Given the description of an element on the screen output the (x, y) to click on. 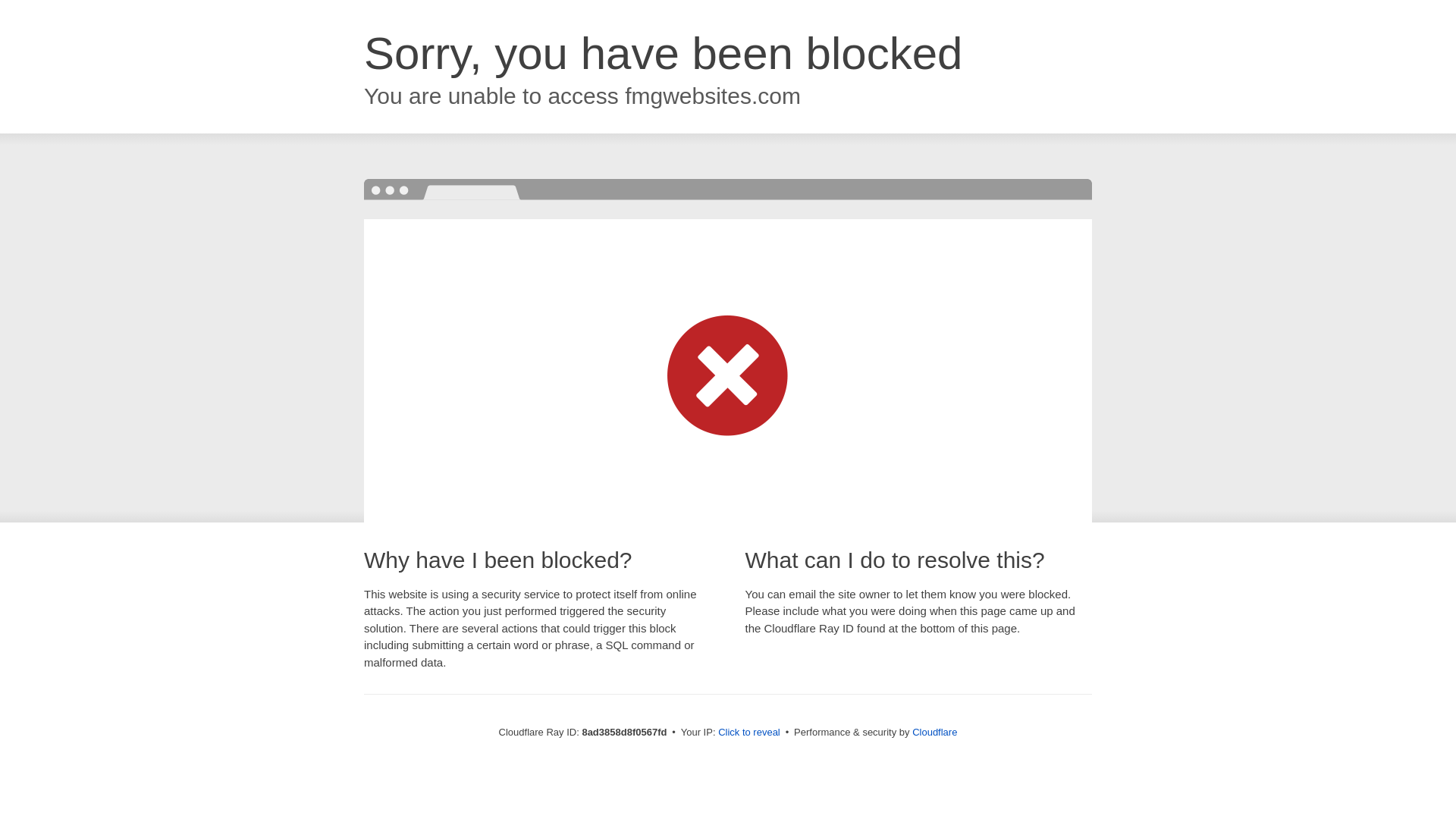
Click to reveal (748, 732)
Cloudflare (934, 731)
